Given the description of an element on the screen output the (x, y) to click on. 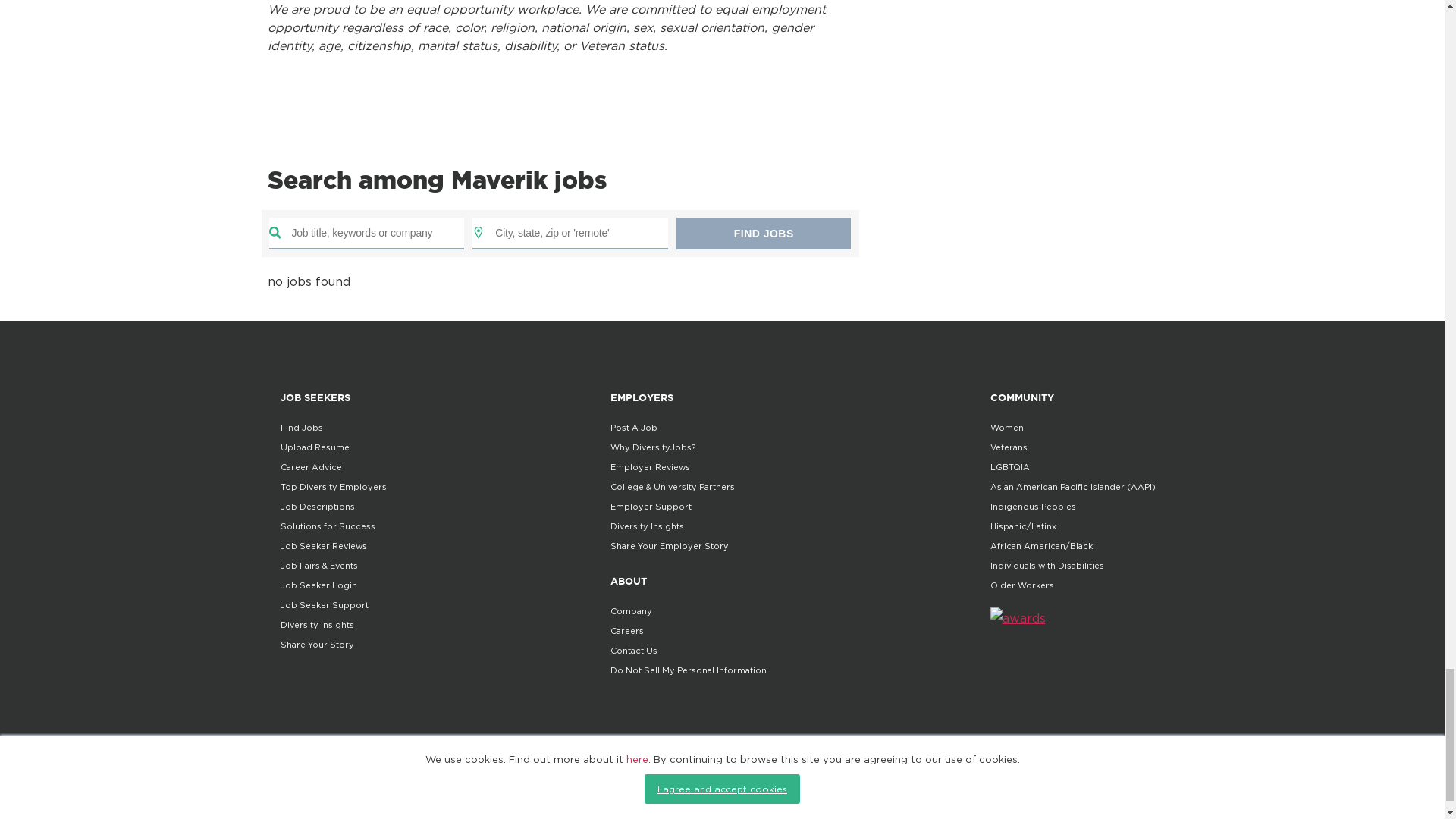
Find Jobs (763, 233)
Search (763, 233)
